Given the description of an element on the screen output the (x, y) to click on. 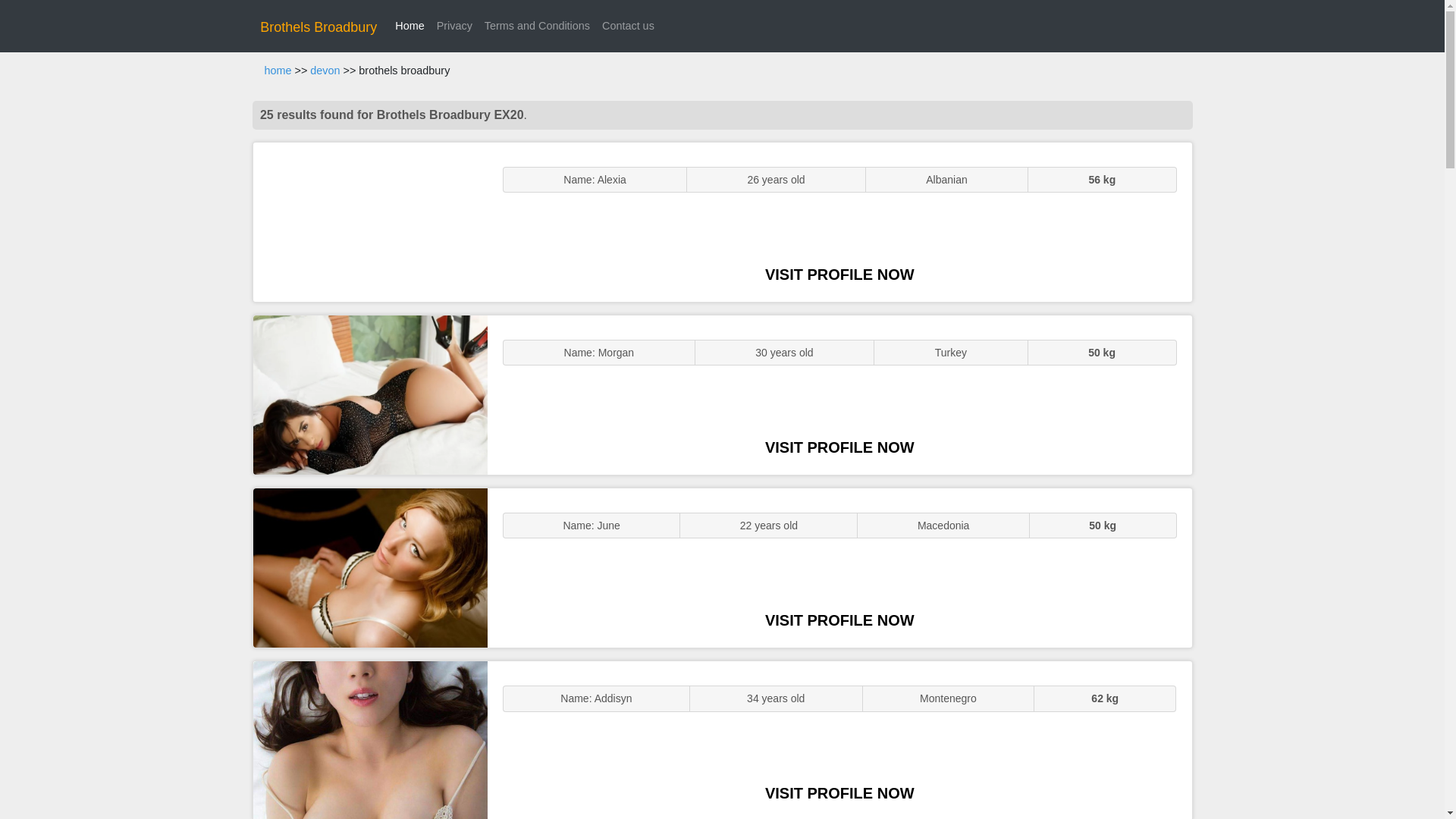
Contact us (628, 25)
VISIT PROFILE NOW (839, 274)
Privacy (454, 25)
devon (324, 70)
Terms and Conditions (537, 25)
Sexy (370, 567)
Sluts (370, 739)
 ENGLISH STUNNER (370, 222)
home (277, 70)
Brothels Broadbury (318, 27)
VISIT PROFILE NOW (839, 619)
VISIT PROFILE NOW (839, 446)
VISIT PROFILE NOW (839, 792)
GFE (370, 395)
